Given the description of an element on the screen output the (x, y) to click on. 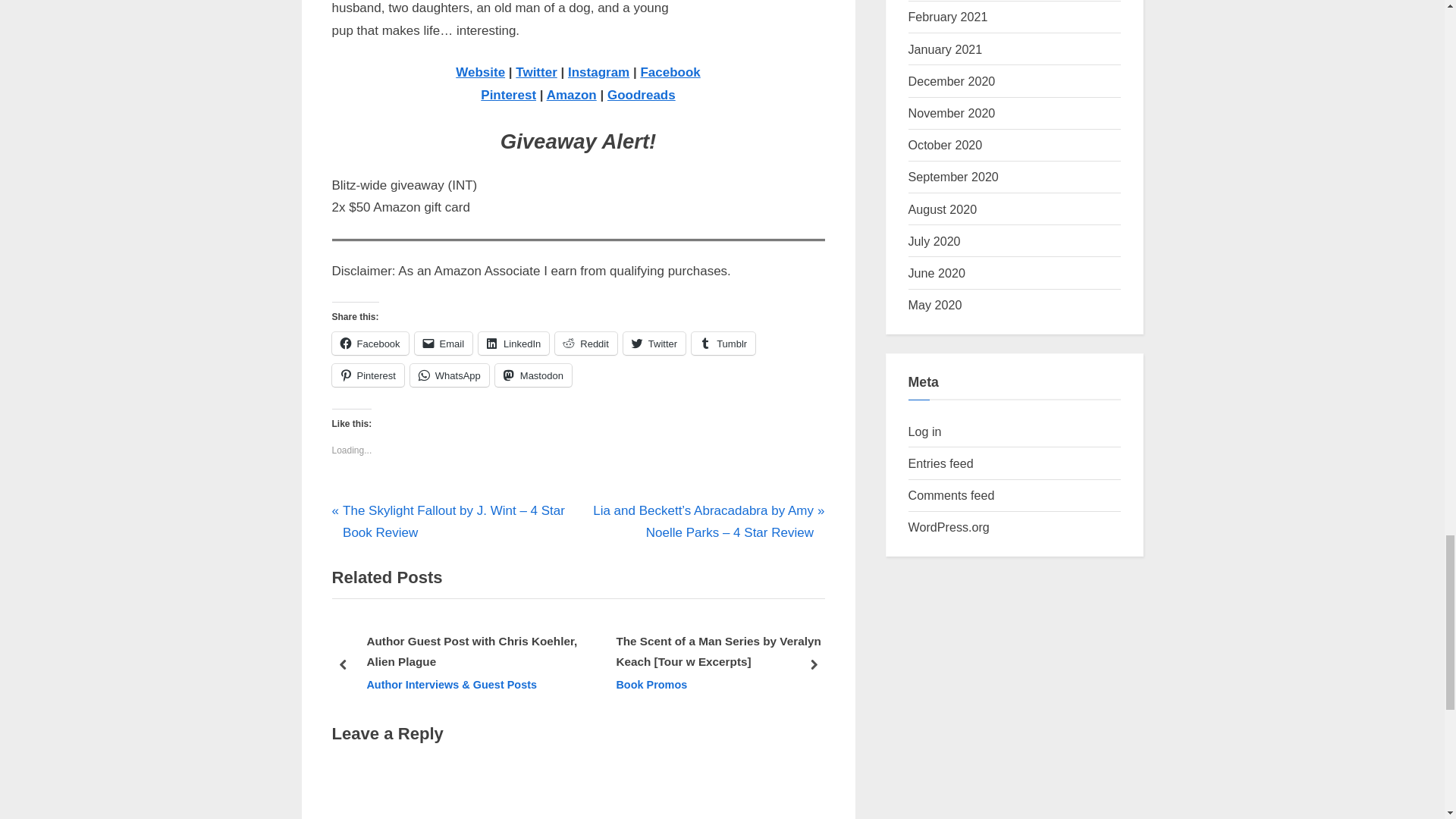
Click to share on Facebook (370, 343)
Click to email a link to a friend (443, 343)
Click to share on Reddit (585, 343)
Click to share on Pinterest (367, 374)
Click to share on Mastodon (533, 374)
Click to share on Tumblr (723, 343)
Click to share on WhatsApp (449, 374)
Click to share on LinkedIn (513, 343)
Comment Form (578, 790)
Click to share on Twitter (654, 343)
